Given the description of an element on the screen output the (x, y) to click on. 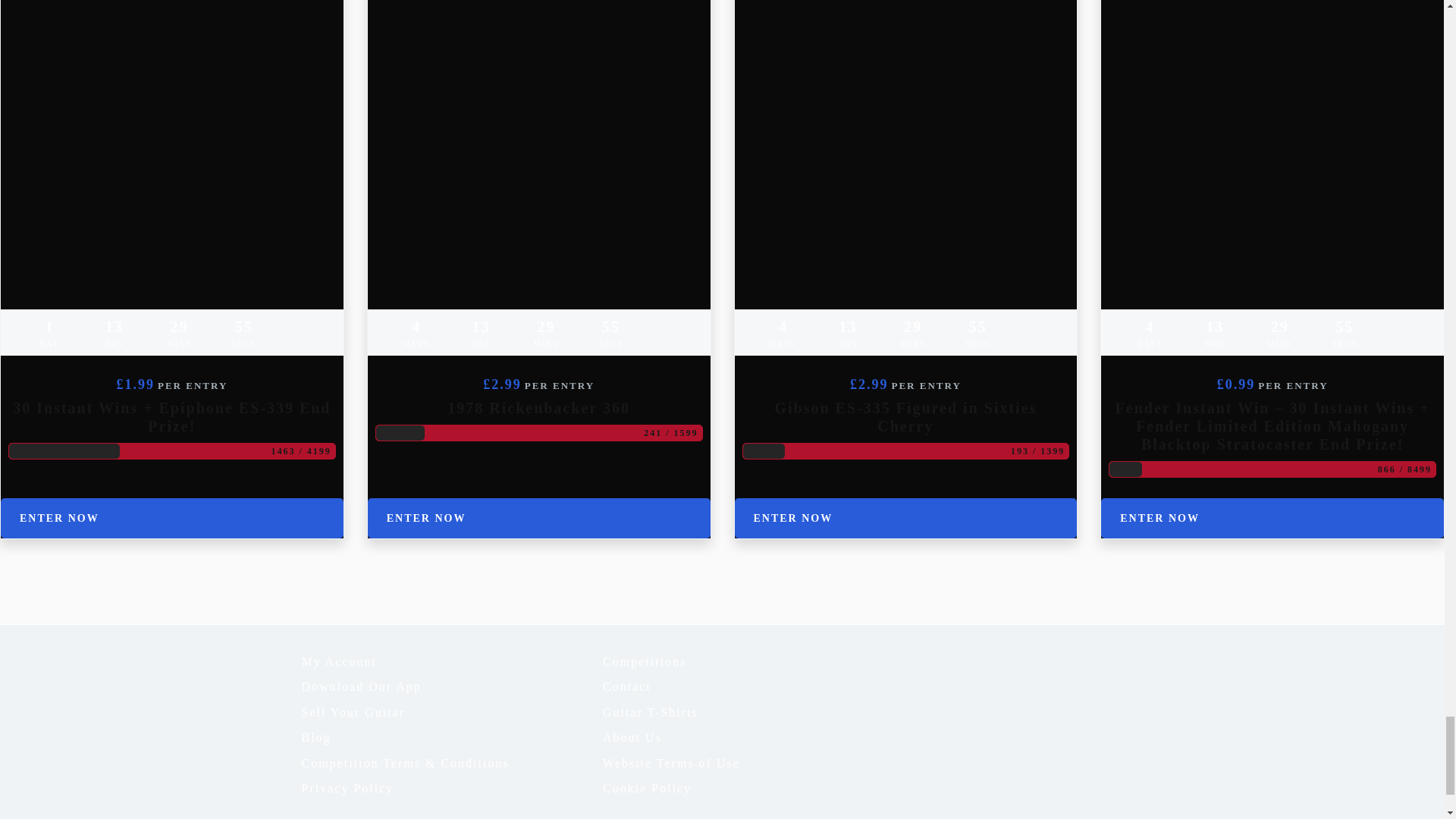
ENTER NOW (539, 517)
ENTER NOW (172, 517)
ENTER NOW (1272, 517)
My Account (452, 661)
ENTER NOW (905, 517)
